Given the description of an element on the screen output the (x, y) to click on. 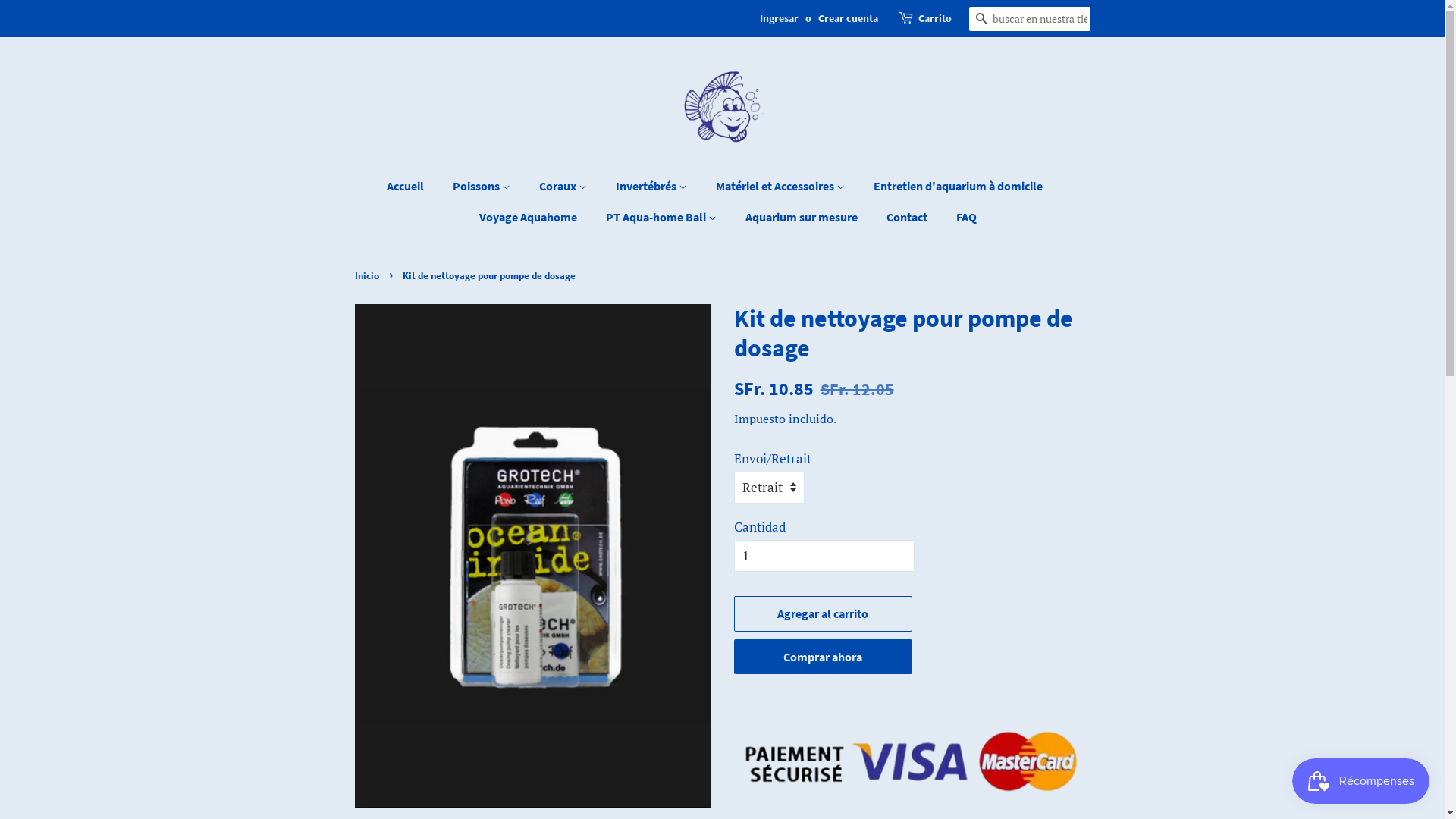
Voyage Aquahome Element type: text (529, 216)
Inicio Element type: text (368, 275)
Buscar Element type: text (981, 18)
Comprar ahora Element type: text (823, 656)
FAQ Element type: text (960, 216)
Agregar al carrito Element type: text (823, 613)
Carrito Element type: text (933, 18)
Contact Element type: text (908, 216)
PT Aqua-home Bali Element type: text (662, 216)
Smile.io Rewards Program Launcher Element type: hover (1360, 780)
Aquarium sur mesure Element type: text (803, 216)
Accueil Element type: text (412, 185)
Poissons Element type: text (483, 185)
Coraux Element type: text (564, 185)
Crear cuenta Element type: text (847, 18)
Ingresar Element type: text (778, 18)
